Given the description of an element on the screen output the (x, y) to click on. 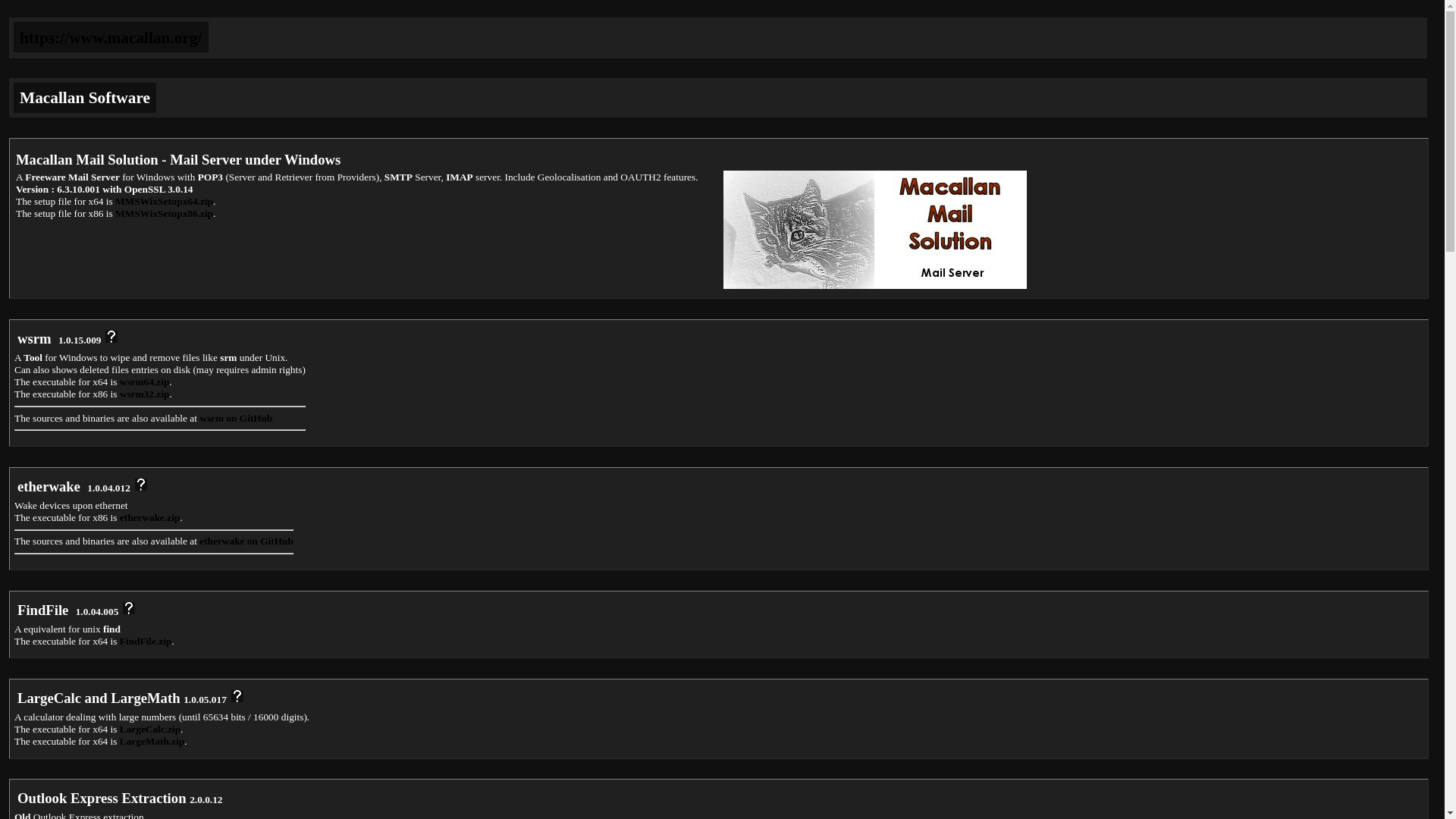
wsrm on GitHub (235, 418)
etherwake.zip (149, 517)
LargeCalc.zip (149, 728)
wsrm32.zip (144, 393)
wsrm64.zip (144, 381)
MMSWixSetupx64.zip (163, 201)
MMSWixSetupx86.zip (163, 213)
etherwake on GitHub (246, 541)
LargeMath.zip (151, 740)
FindFile.zip (145, 641)
